Given the description of an element on the screen output the (x, y) to click on. 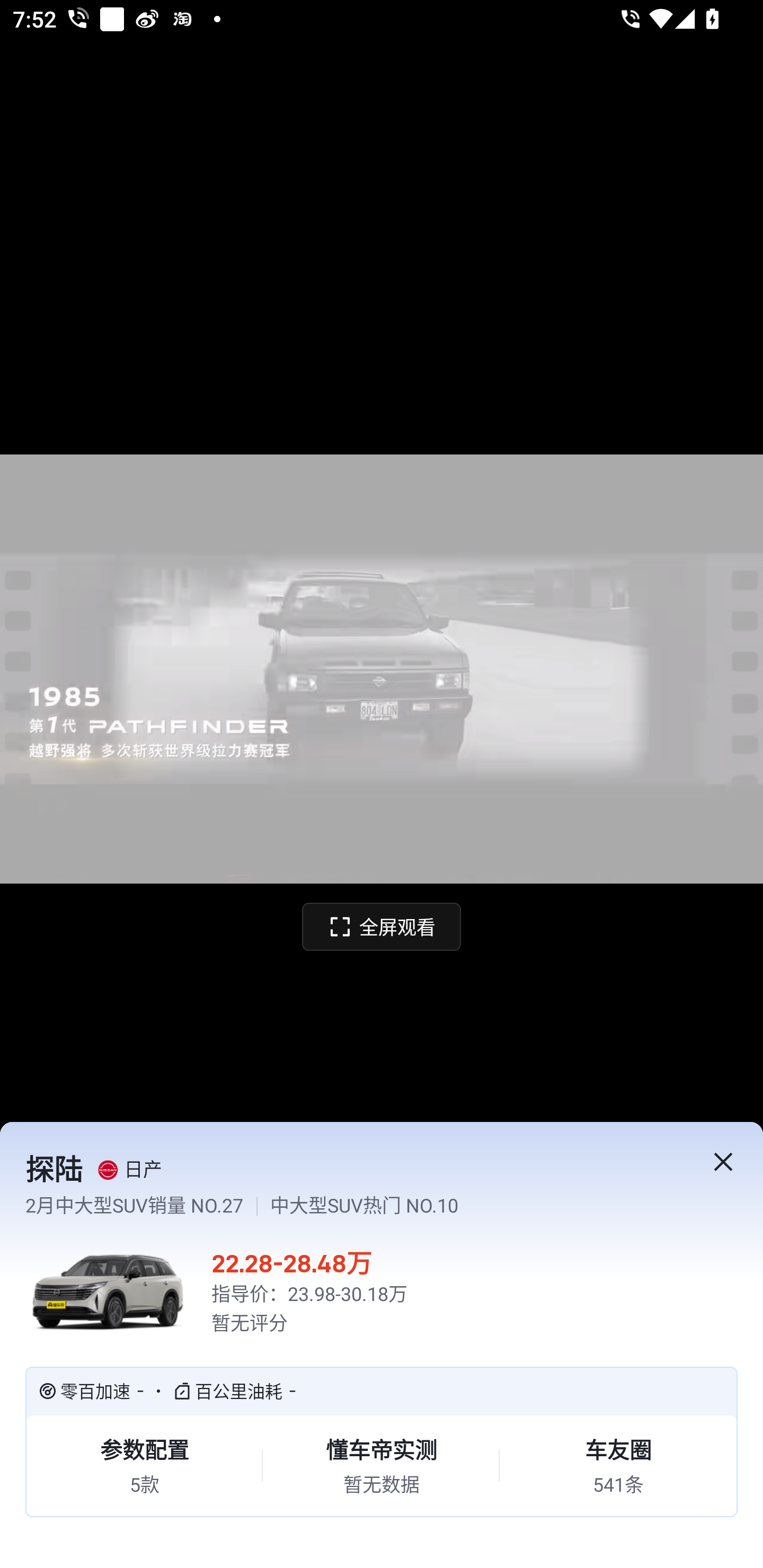
 (722, 1161)
探陆 日产 (351, 1170)
2月中大型SUV销量 NO.27 中大型SUV热门 NO.10 (351, 1205)
22.28-28.48万 指导价：23.98-30.18万 暂无评分 (381, 1291)
参数配置 5款 (144, 1465)
懂车帝实测 暂无数据 (380, 1465)
车友圈 541条 (617, 1465)
